Given the description of an element on the screen output the (x, y) to click on. 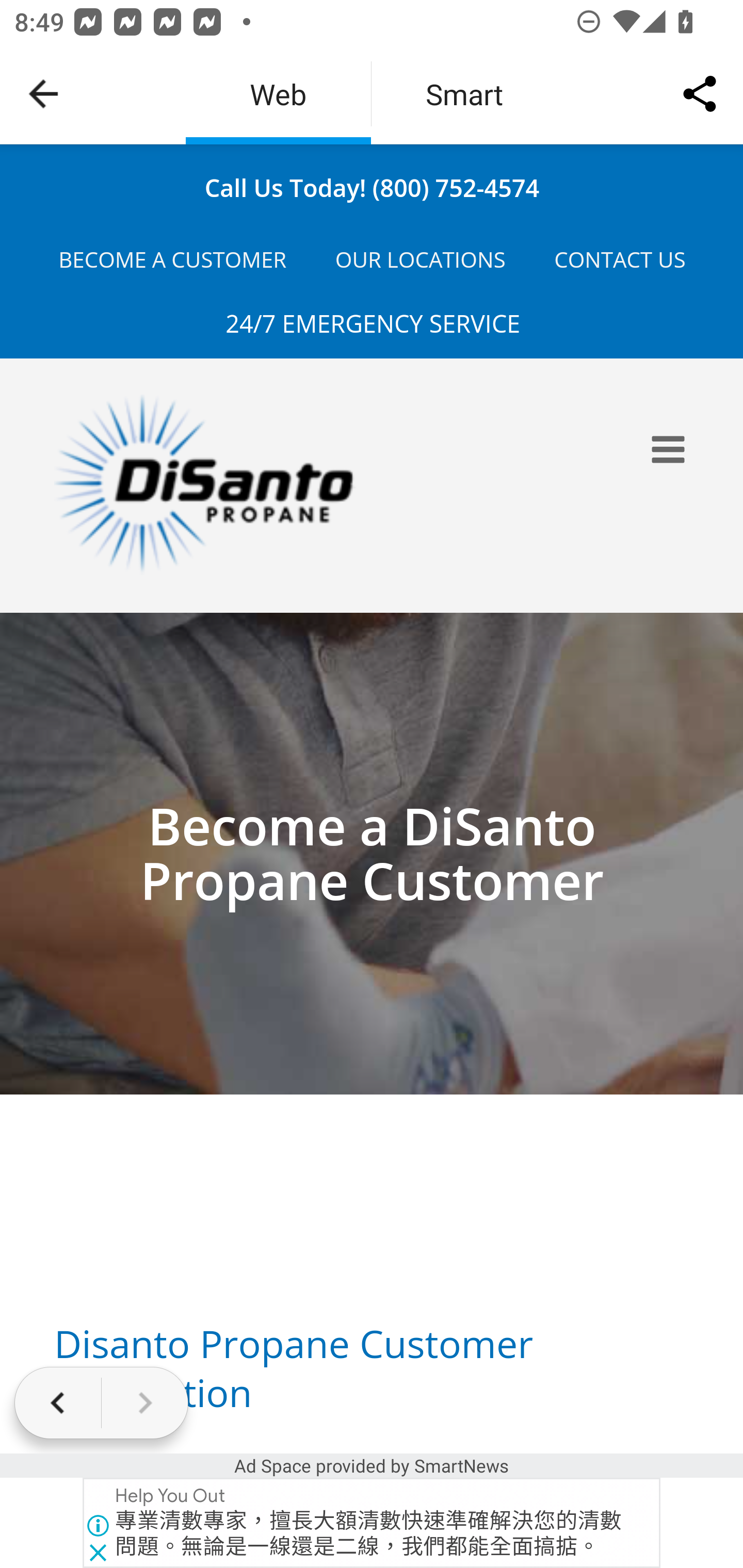
Web (277, 93)
Smart (464, 93)
mailto: (371, 187)
BECOME A CUSTOMER (172, 260)
OUR LOCATIONS (420, 260)
CONTACT US (619, 260)
24/7 EMERGENCY SERVICE (372, 323)
Disanto Propane (236, 484)
 (670, 448)
Help You Out (171, 1496)
